Given the description of an element on the screen output the (x, y) to click on. 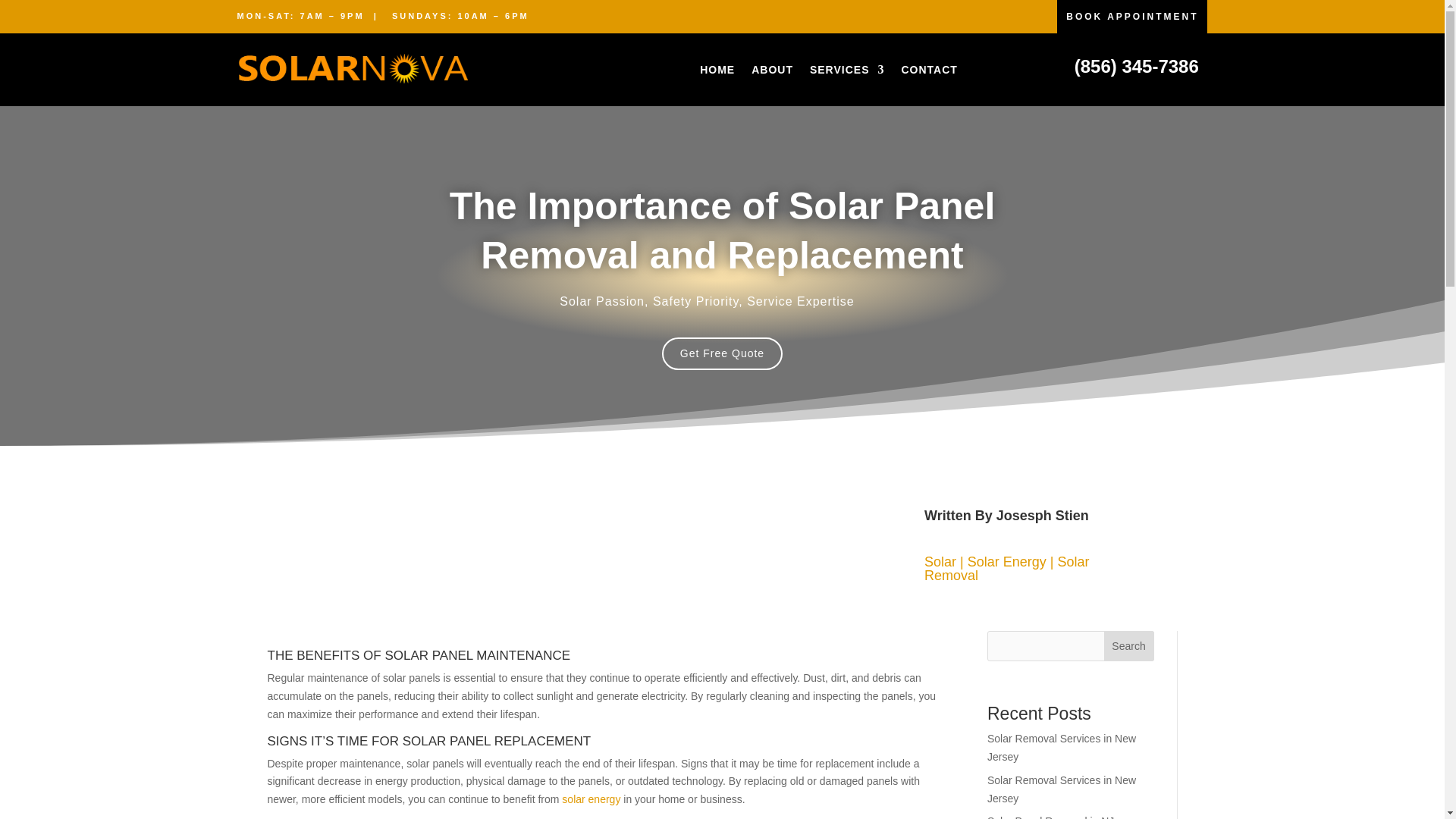
Solar Removal (1006, 568)
SERVICES (847, 69)
Get Free Quote (722, 354)
Solar Removal Services in New Jersey (1061, 788)
Solar Energy (1007, 561)
Solar Removal Services in New Jersey (1061, 747)
Josesph Stien (1042, 515)
Search (1128, 645)
solar energy (591, 799)
BOOK APPOINTMENT (1132, 16)
